Given the description of an element on the screen output the (x, y) to click on. 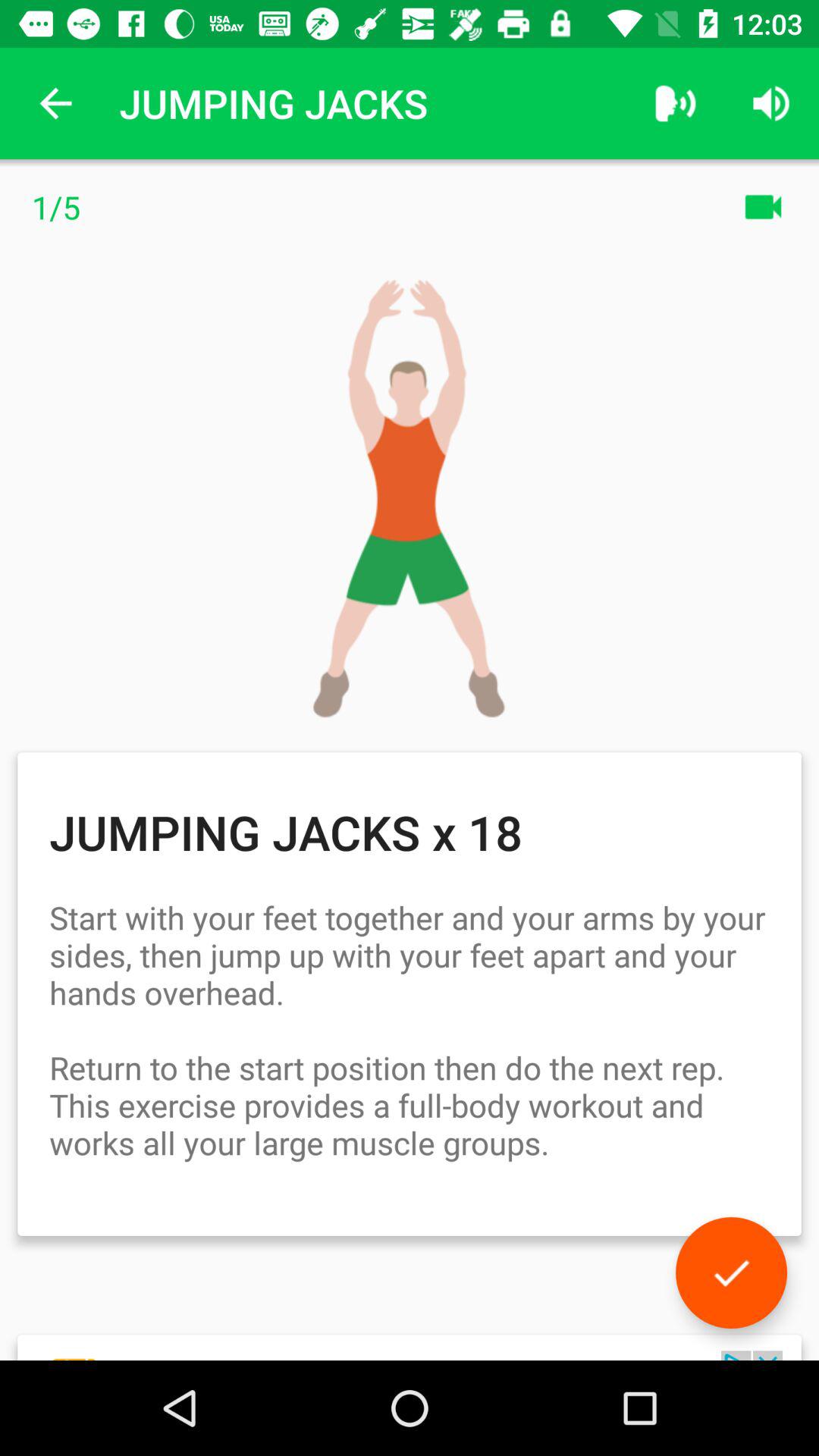
launch app next to the jumping jacks item (675, 103)
